Given the description of an element on the screen output the (x, y) to click on. 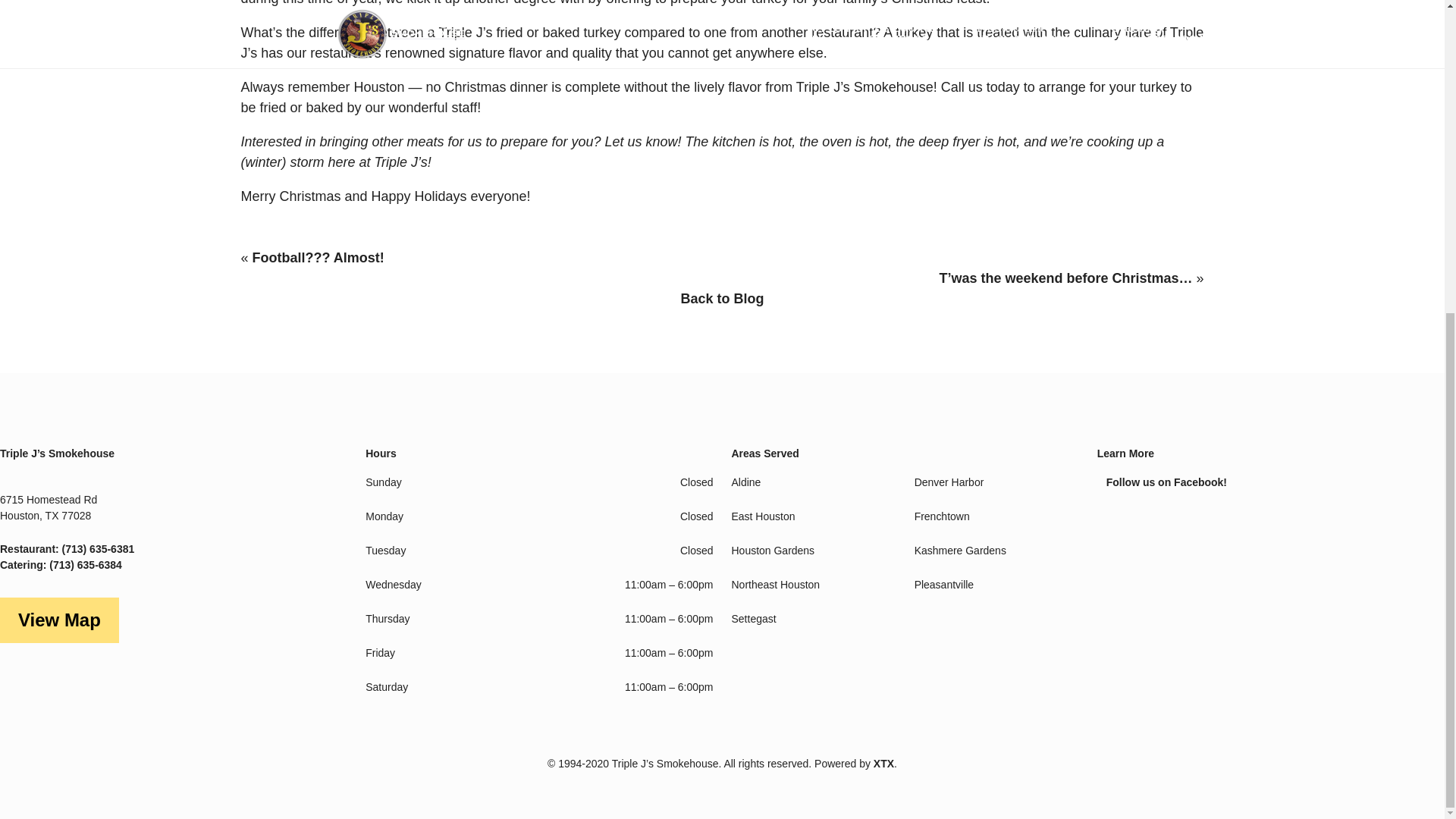
Back to Blog (722, 298)
XTX (883, 763)
Football??? Almost! (317, 257)
View Map (59, 619)
